Given the description of an element on the screen output the (x, y) to click on. 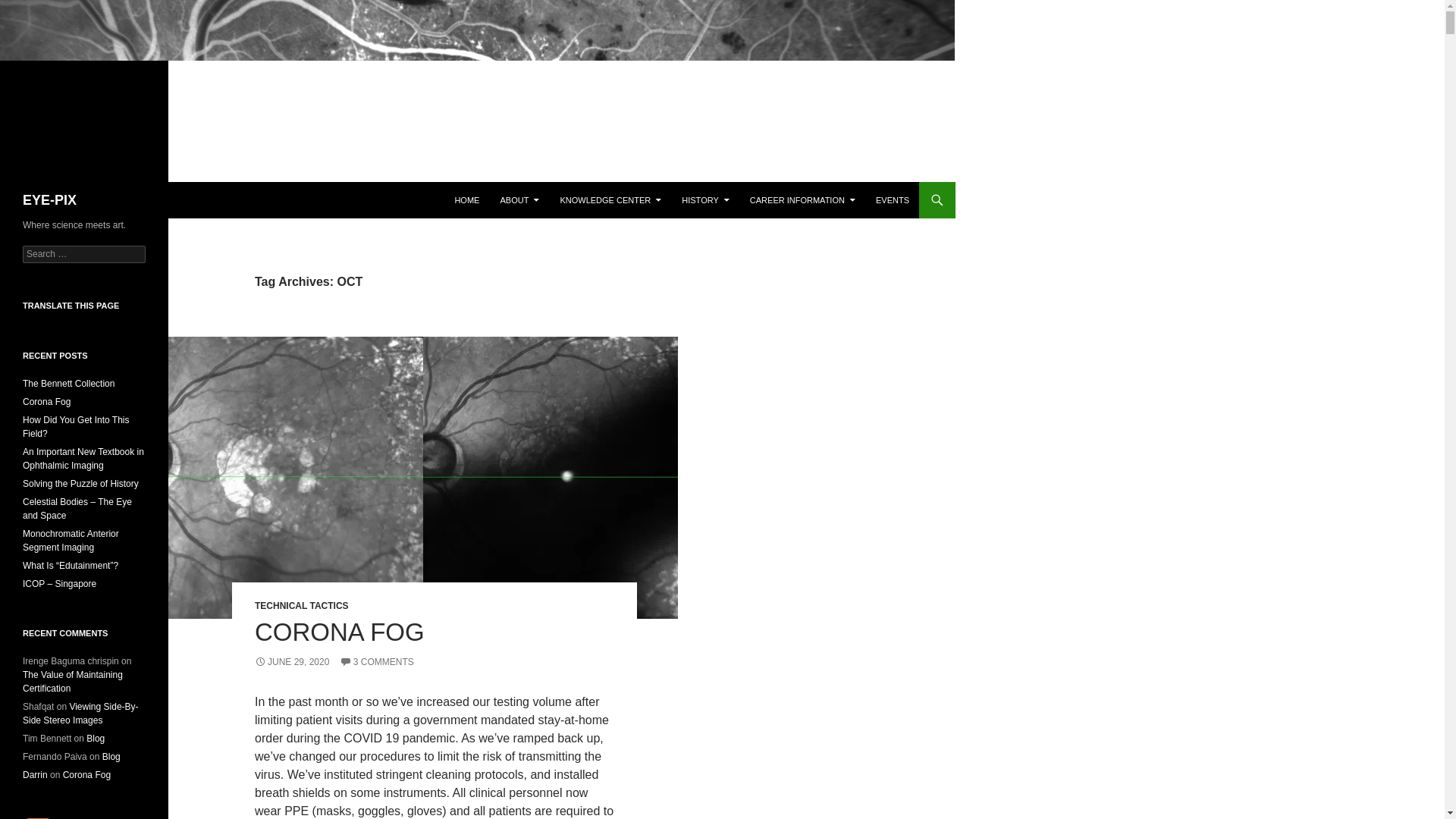
ABOUT (519, 199)
HISTORY (705, 199)
KNOWLEDGE CENTER (609, 199)
HOME (466, 199)
EYE-PIX (50, 199)
